Given the description of an element on the screen output the (x, y) to click on. 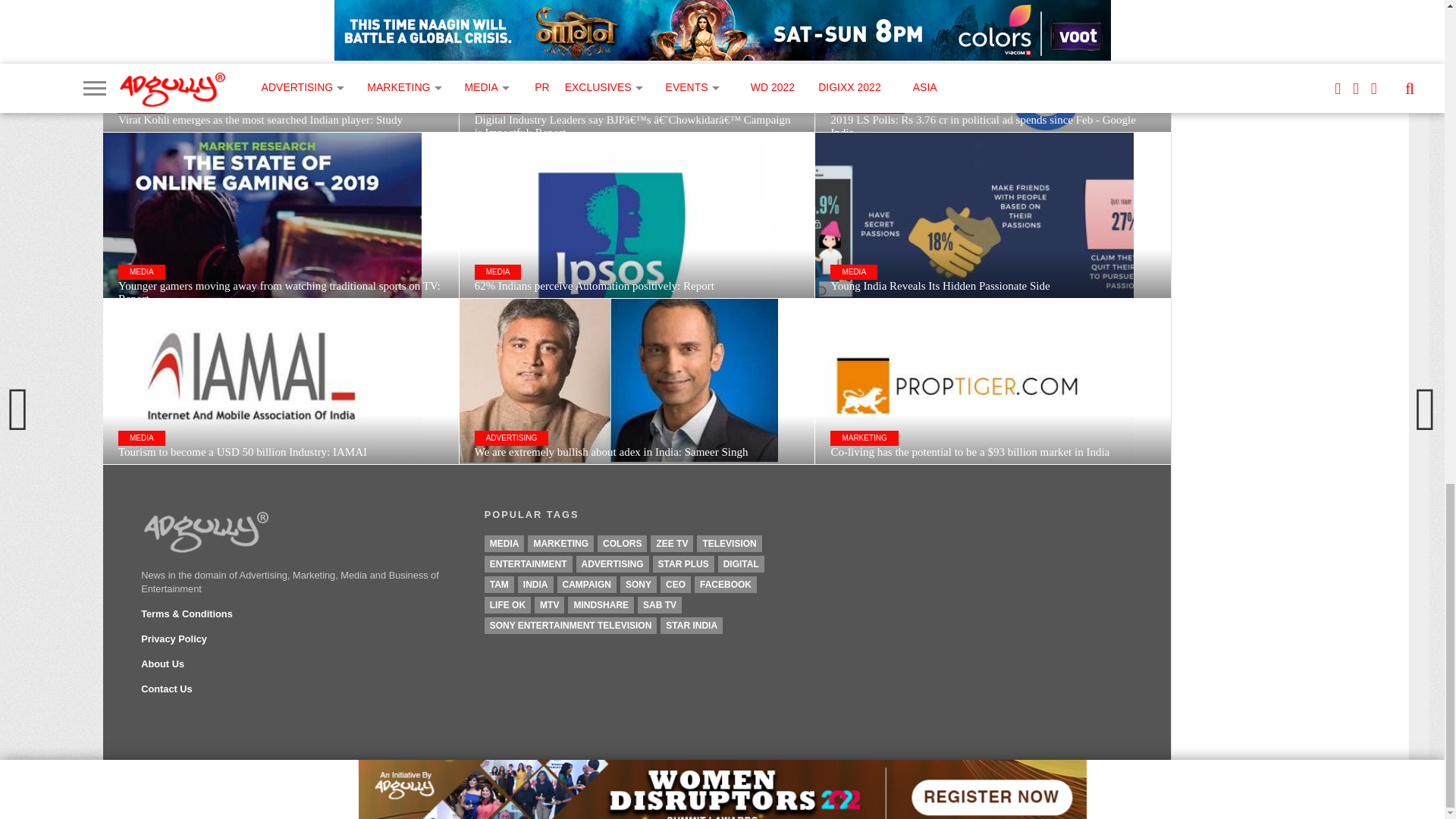
Zee TV (671, 543)
Entertainment (528, 564)
Marketing (560, 543)
Star Plus (683, 564)
Television (729, 543)
Advertising (612, 564)
Colors (621, 543)
Digital (740, 564)
Media (504, 543)
